Given the description of an element on the screen output the (x, y) to click on. 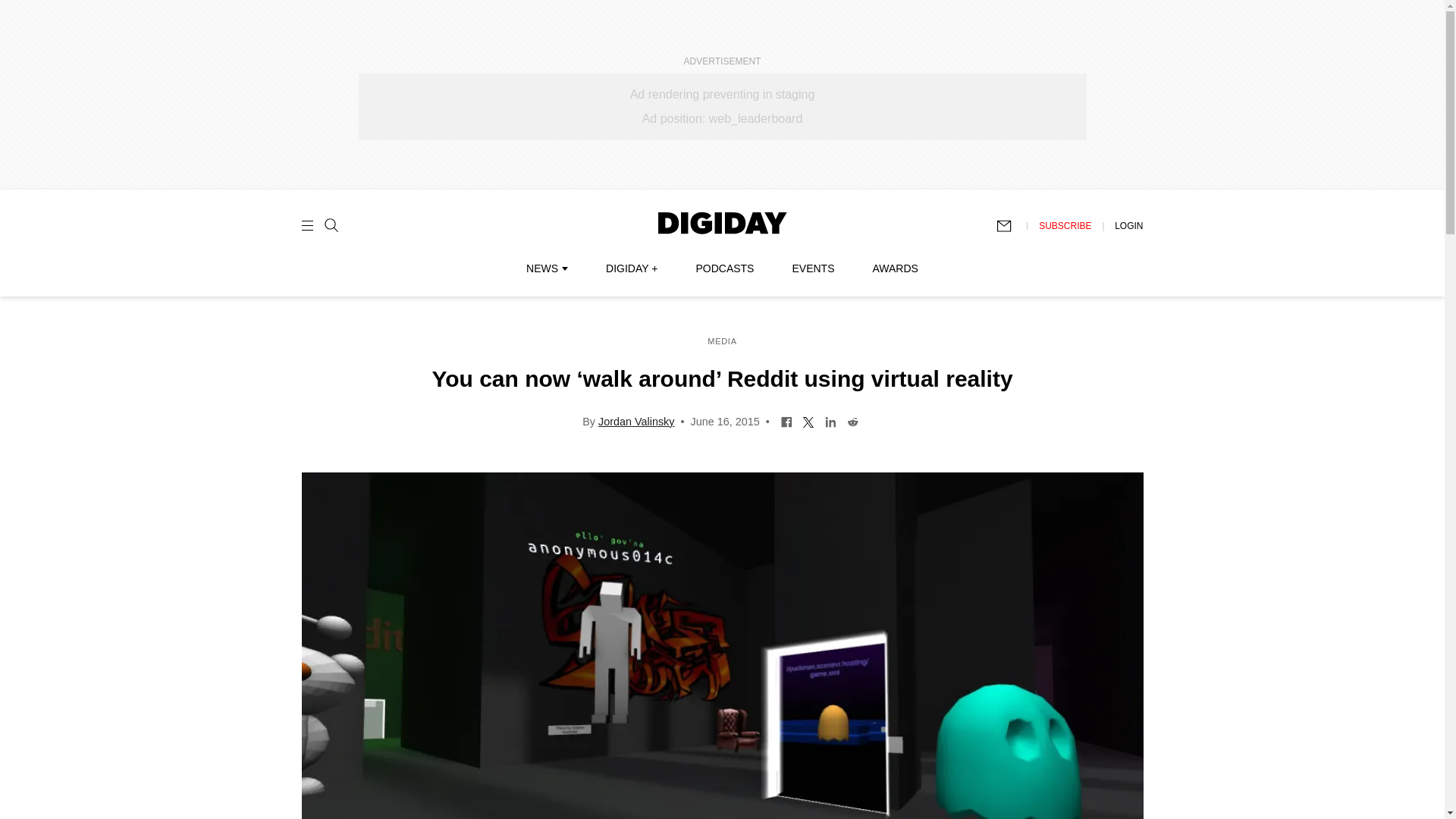
LOGIN (1128, 225)
SUBSCRIBE (1064, 225)
NEWS (546, 267)
Share on Reddit (852, 420)
Share on Twitter (808, 420)
EVENTS (813, 267)
AWARDS (894, 267)
Share on LinkedIn (830, 420)
Share on Facebook (786, 420)
PODCASTS (725, 267)
Subscribe (1010, 225)
